Given the description of an element on the screen output the (x, y) to click on. 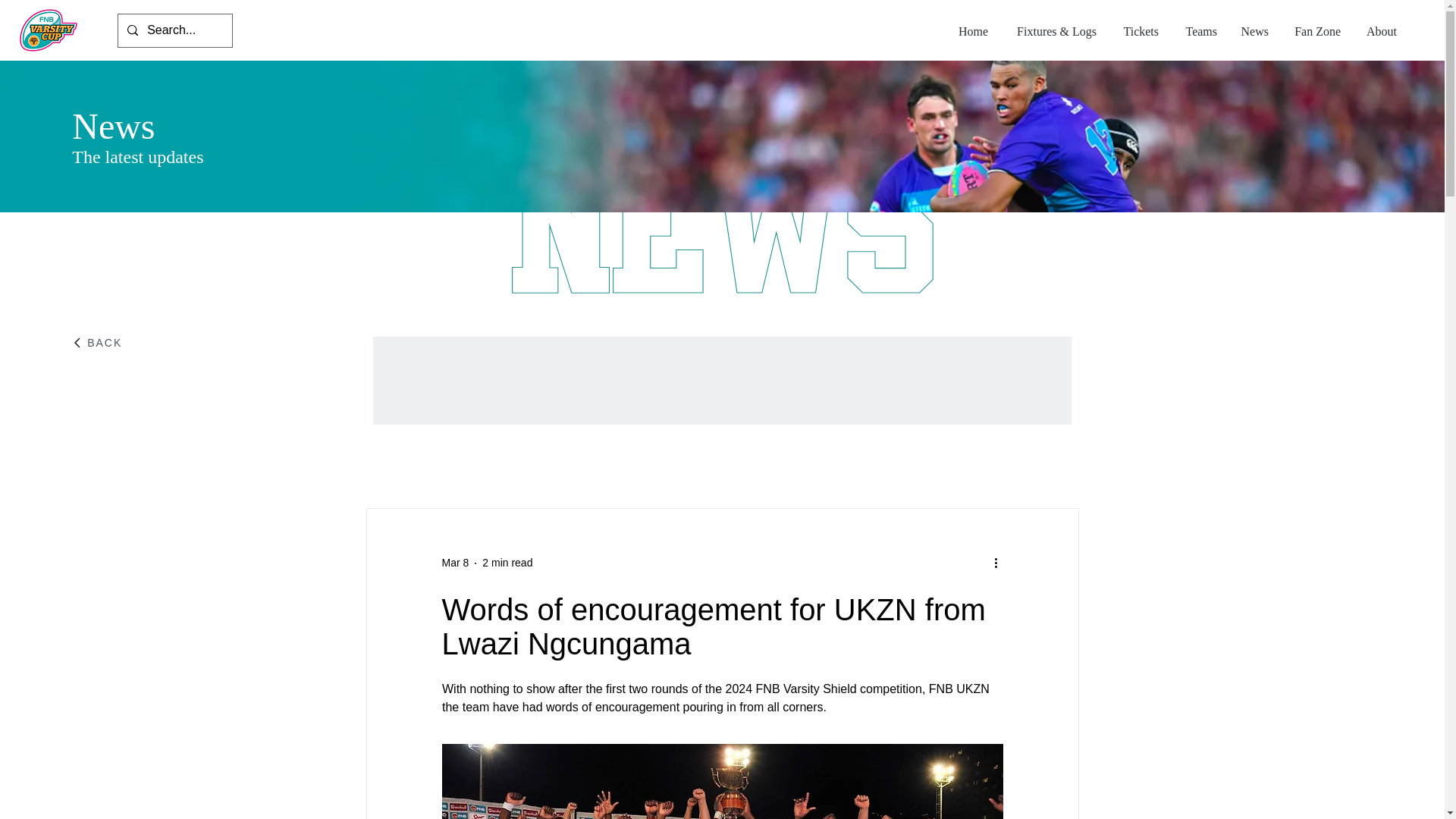
News (1253, 30)
Tickets (1139, 30)
Teams (1199, 30)
2 min read (506, 562)
Fan Zone (1315, 30)
About (1379, 30)
Home (970, 30)
Mar 8 (454, 562)
